Given the description of an element on the screen output the (x, y) to click on. 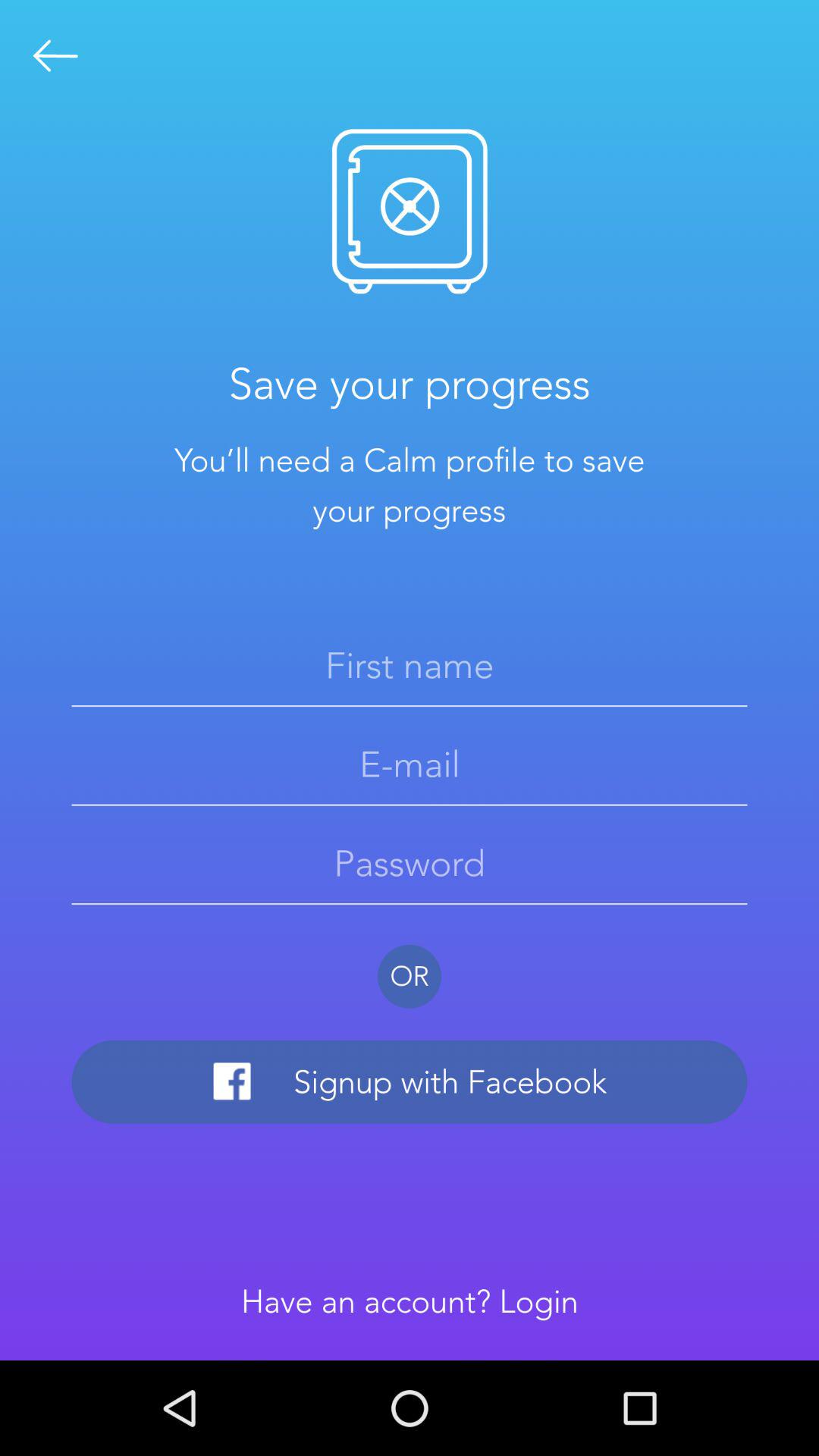
go back to previous screen (55, 55)
